Given the description of an element on the screen output the (x, y) to click on. 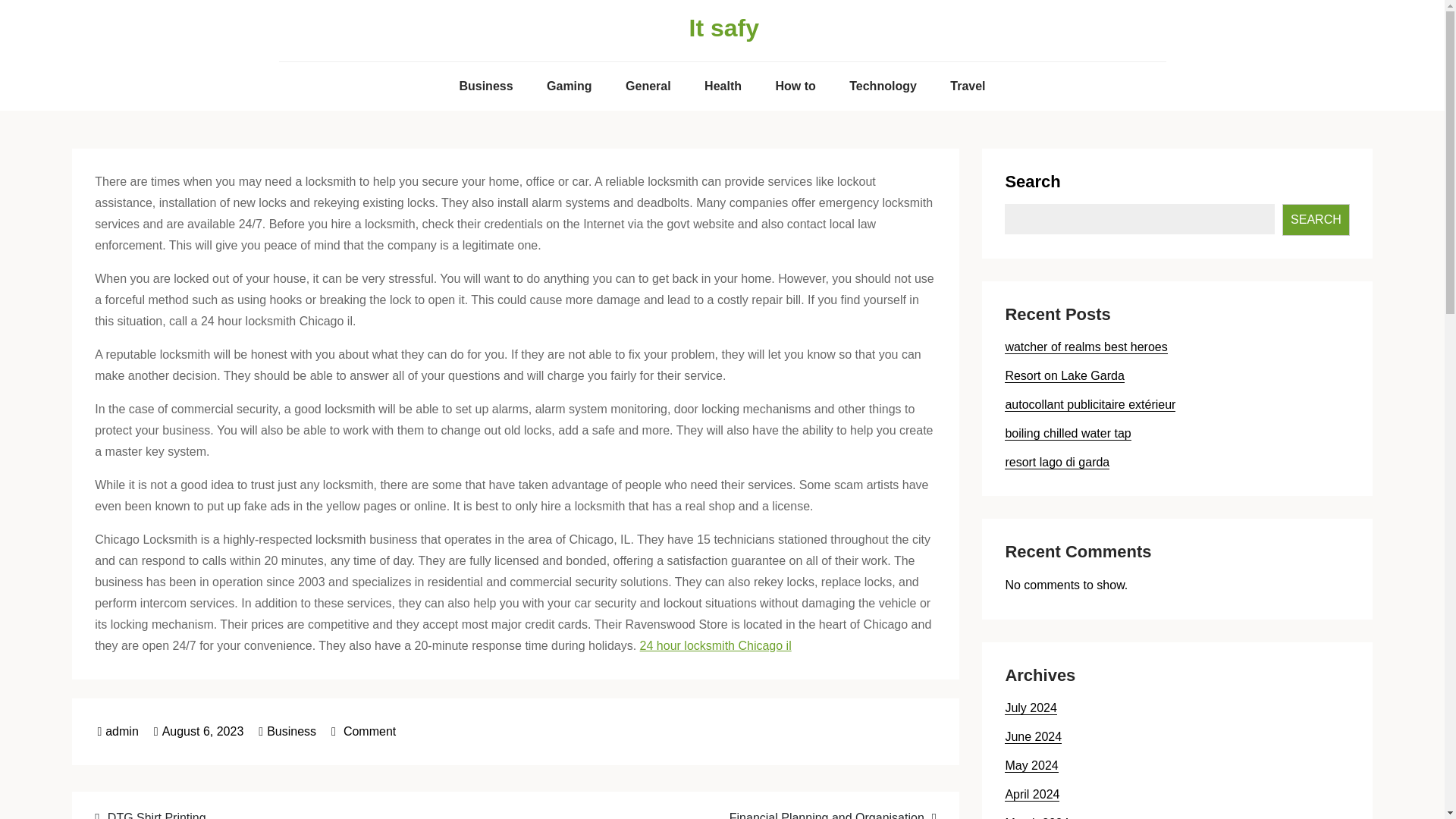
Health (722, 86)
It safy (723, 27)
resort lago di garda (1056, 462)
SEARCH (1315, 219)
April 2024 (1031, 794)
July 2024 (1030, 707)
Travel (363, 730)
DTG Shirt Printing (967, 86)
boiling chilled water tap (295, 812)
How to (1067, 433)
June 2024 (794, 86)
24 hour locksmith Chicago il (1032, 736)
August 6, 2023 (716, 645)
admin (198, 730)
